Given the description of an element on the screen output the (x, y) to click on. 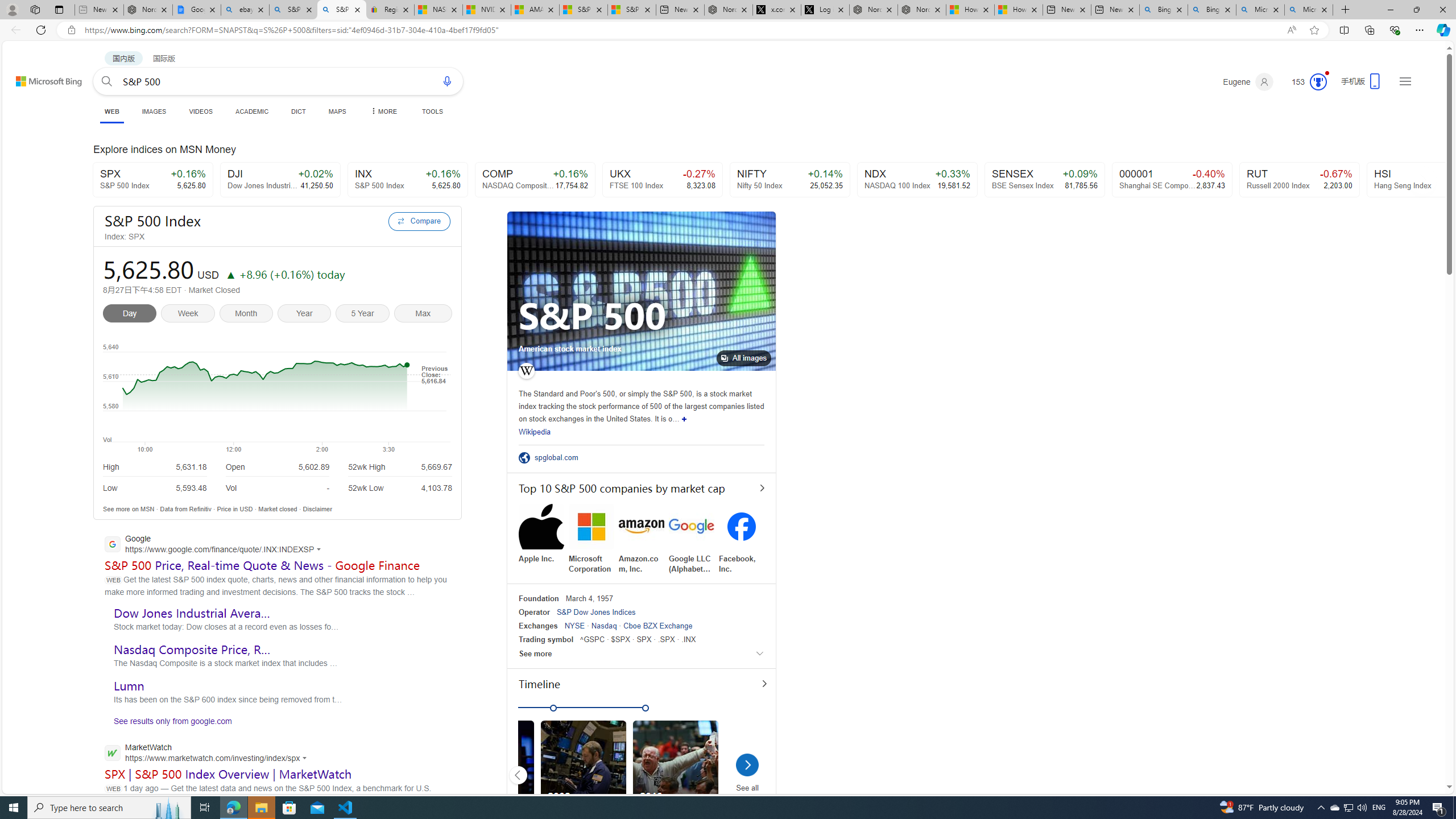
NIFTY +0.14% Nifty 50 Index 25,052.35 (790, 179)
Actions for this site (306, 757)
Microsoft Corporation (591, 538)
See more (641, 653)
Apple Inc. (541, 533)
Max (422, 314)
Trading symbol (545, 639)
App bar (728, 29)
Class: sp-ofsite (523, 457)
DJI +0.02% Dow Jones Industrial Average Index 41,250.50 (280, 179)
Log in to X / X (825, 9)
Nasdaq (604, 625)
spglobal.com (559, 457)
S&P 500 Index (242, 221)
